Given the description of an element on the screen output the (x, y) to click on. 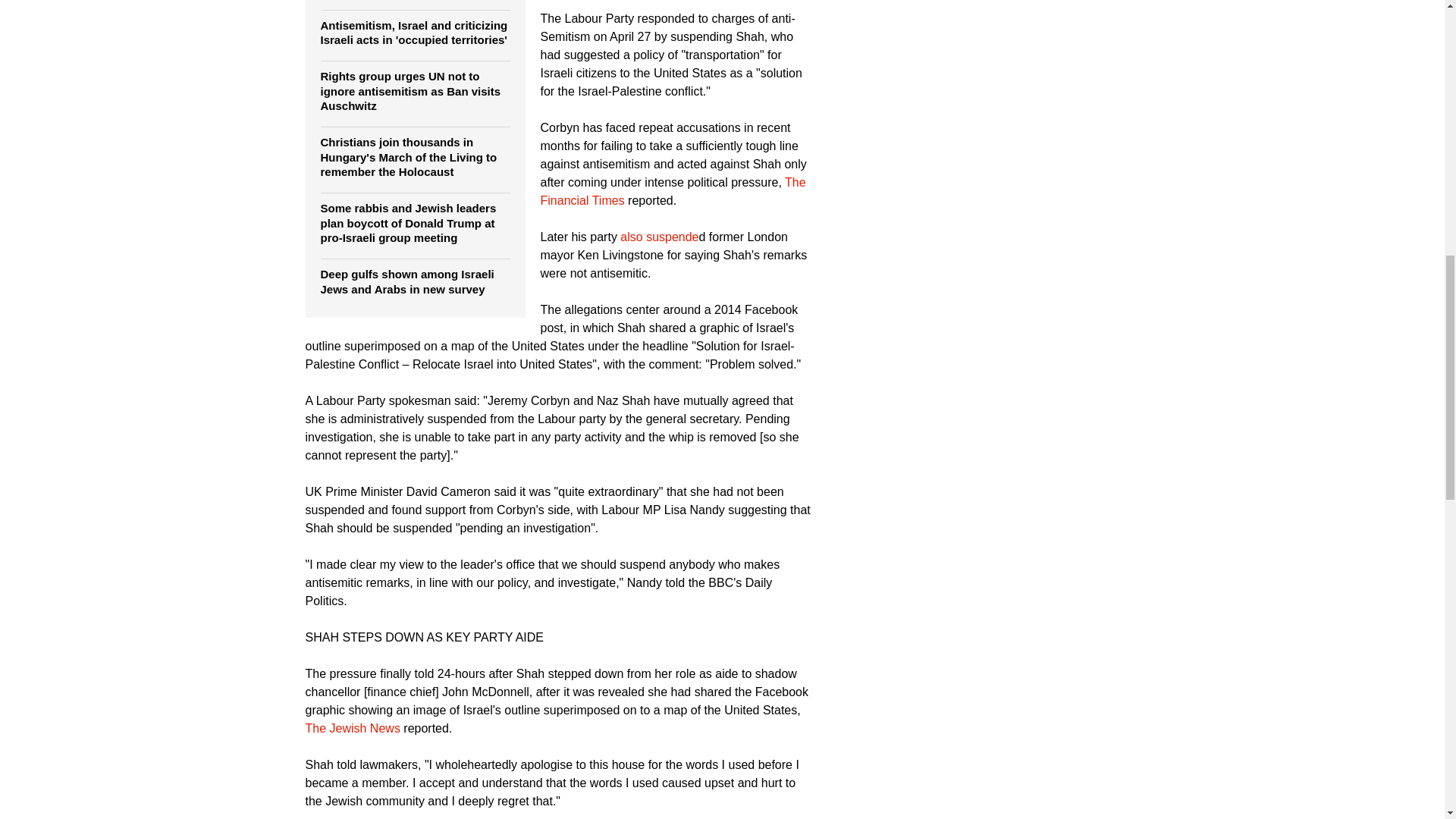
The Jewish News (351, 727)
The Financial Times (672, 191)
FT on suspension of UK MP over anitsemitic remarks (672, 191)
Deep gulfs shown among Israeli Jews and Arabs in new survey (406, 281)
also suspende (659, 236)
The Jewish News on apology by UK MP on anitsemtic remarks (351, 727)
